Given the description of an element on the screen output the (x, y) to click on. 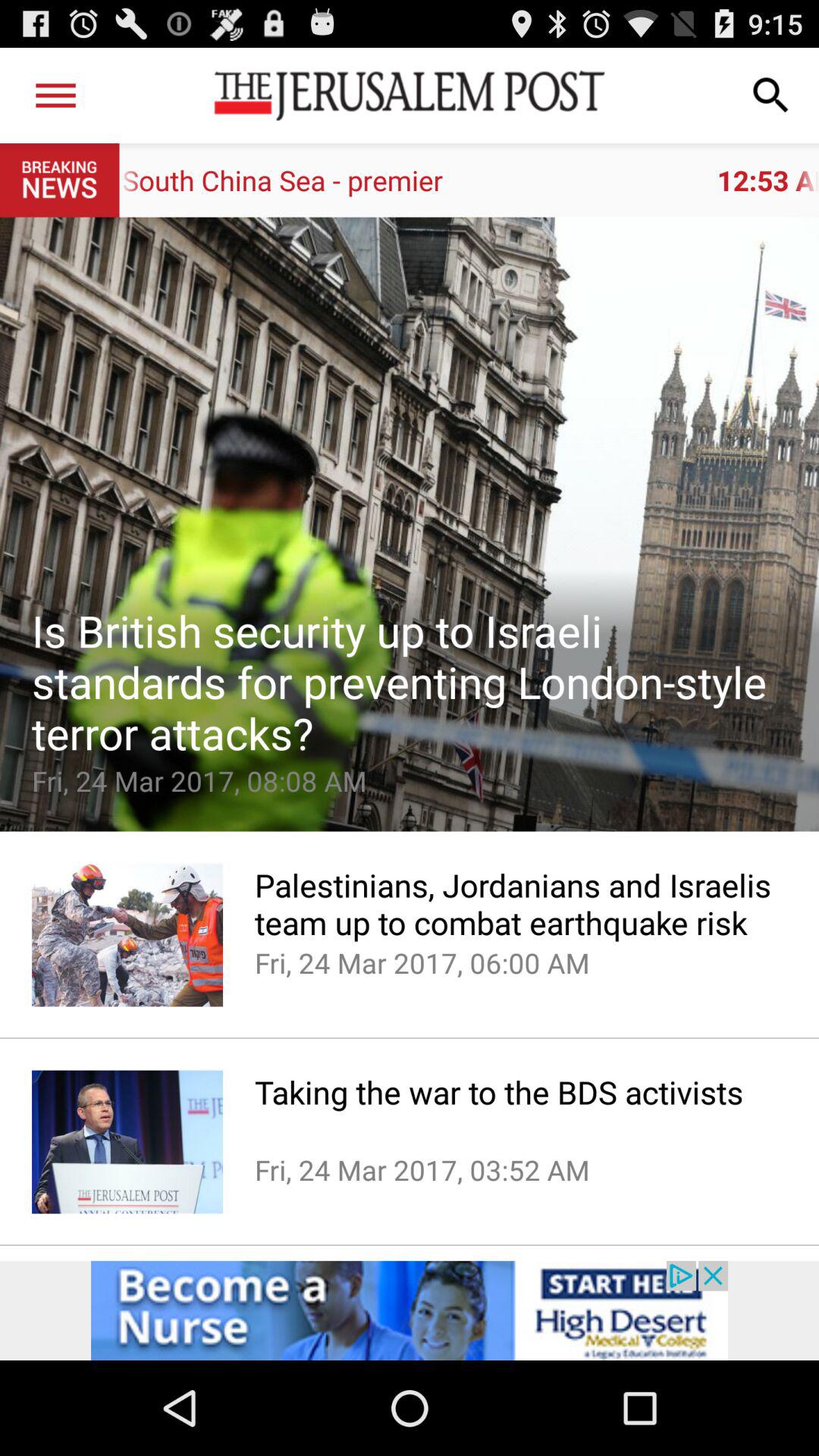
swipe to the 12 53 am app (469, 180)
